Given the description of an element on the screen output the (x, y) to click on. 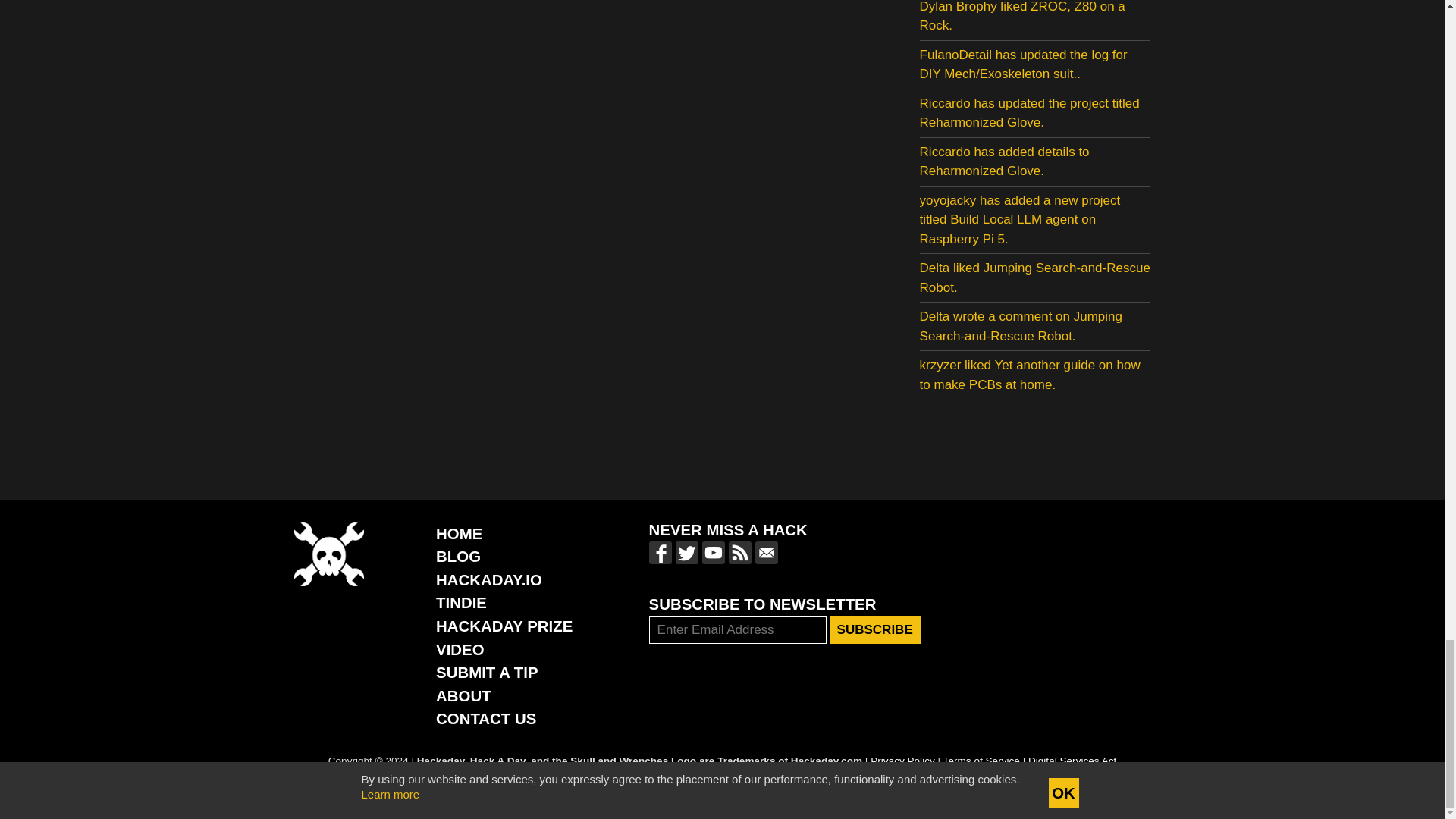
Subscribe (874, 629)
Build Something that Matters (503, 626)
